Given the description of an element on the screen output the (x, y) to click on. 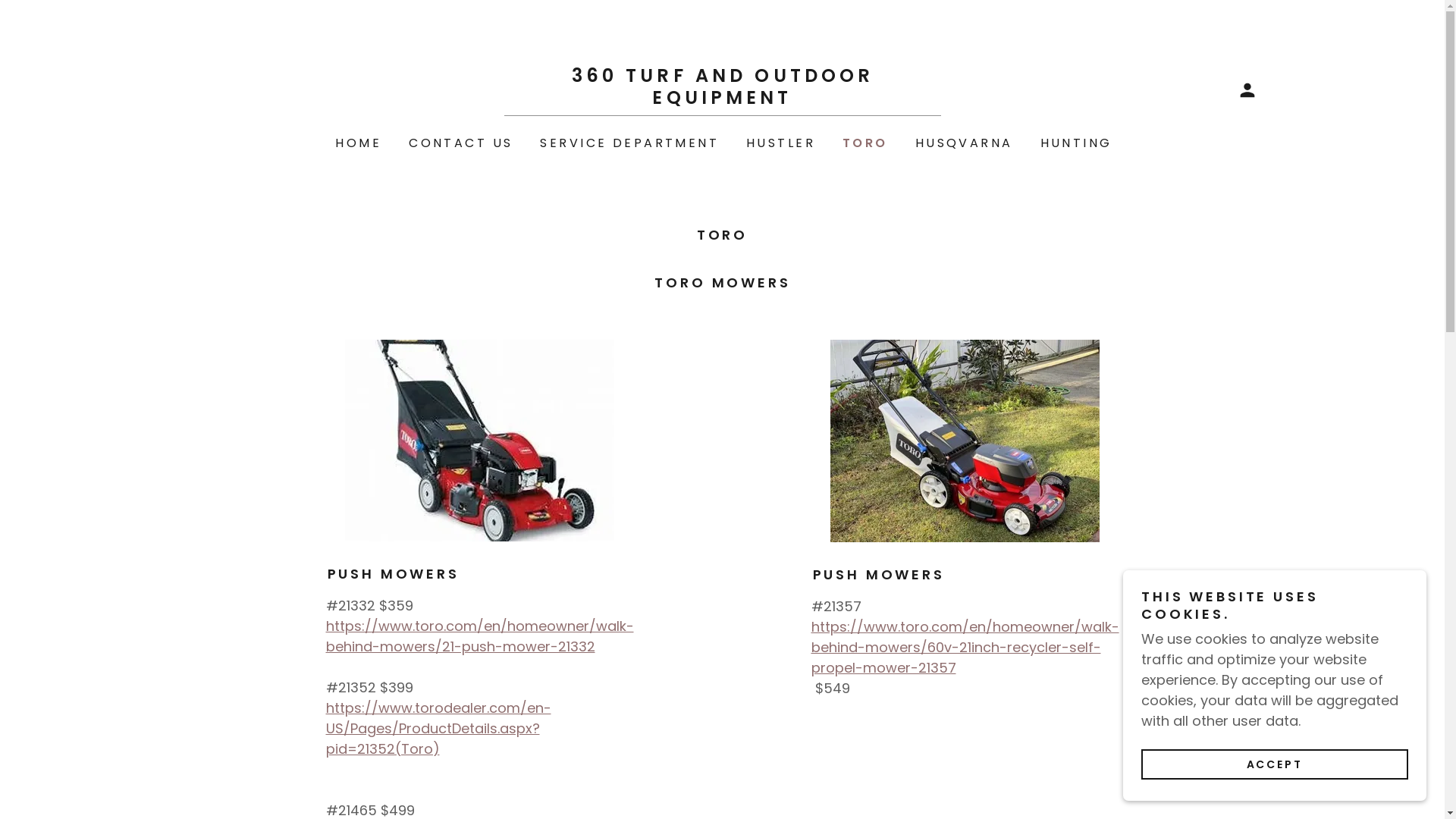
SERVICE DEPARTMENT Element type: text (627, 142)
360 TURF AND OUTDOOR EQUIPMENT Element type: text (721, 98)
HOME Element type: text (356, 142)
CONTACT US Element type: text (459, 142)
HUSTLER Element type: text (778, 142)
TORO Element type: text (863, 143)
ACCEPT Element type: text (1274, 764)
HUNTING Element type: text (1074, 142)
HUSQVARNA Element type: text (962, 142)
